Given the description of an element on the screen output the (x, y) to click on. 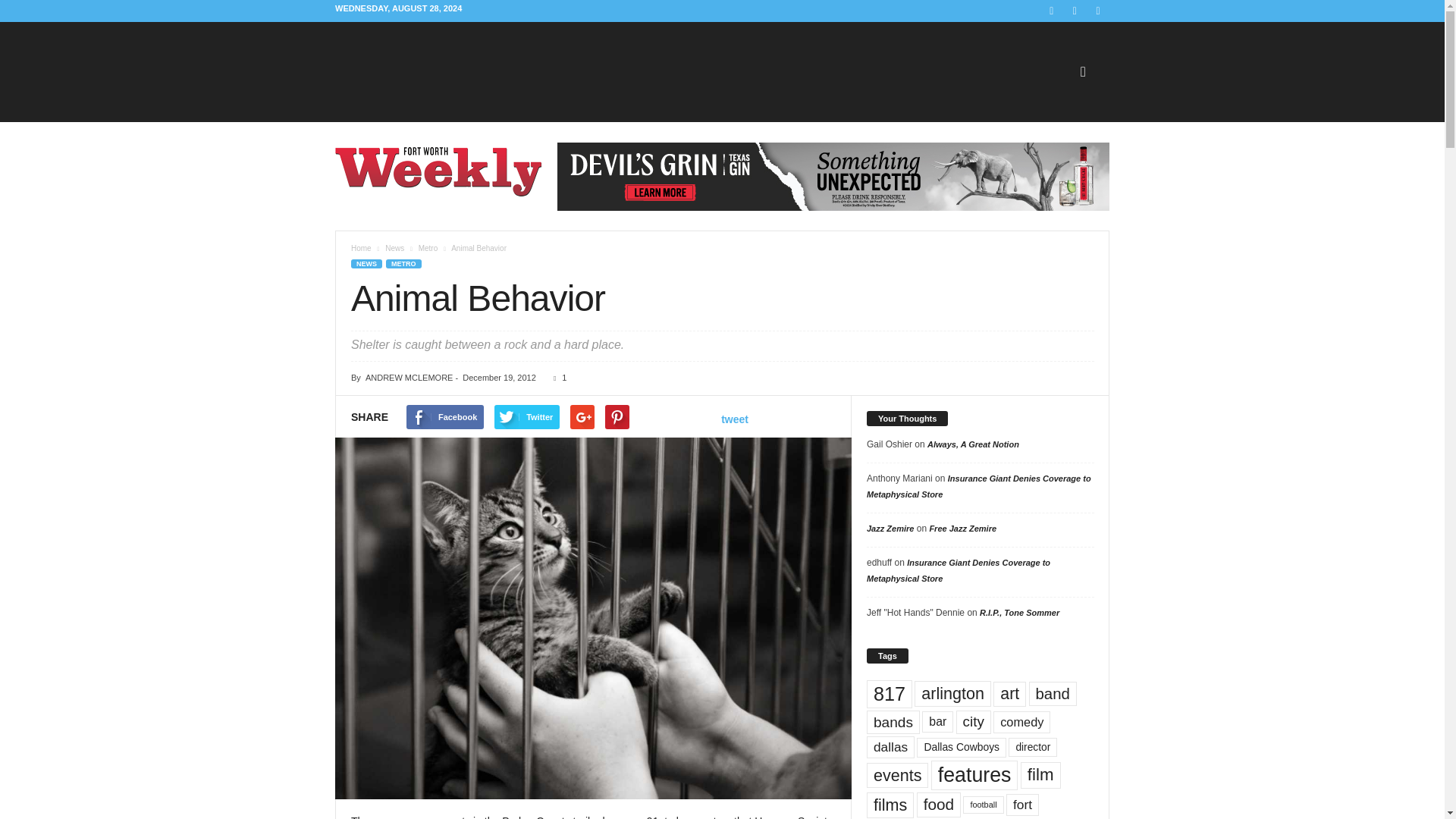
View all posts in News (394, 248)
View all posts in Metro (428, 248)
DG ad 728x90 (833, 176)
Fort Worth Weekly - What is Happening in Fort Worth (437, 171)
